Given the description of an element on the screen output the (x, y) to click on. 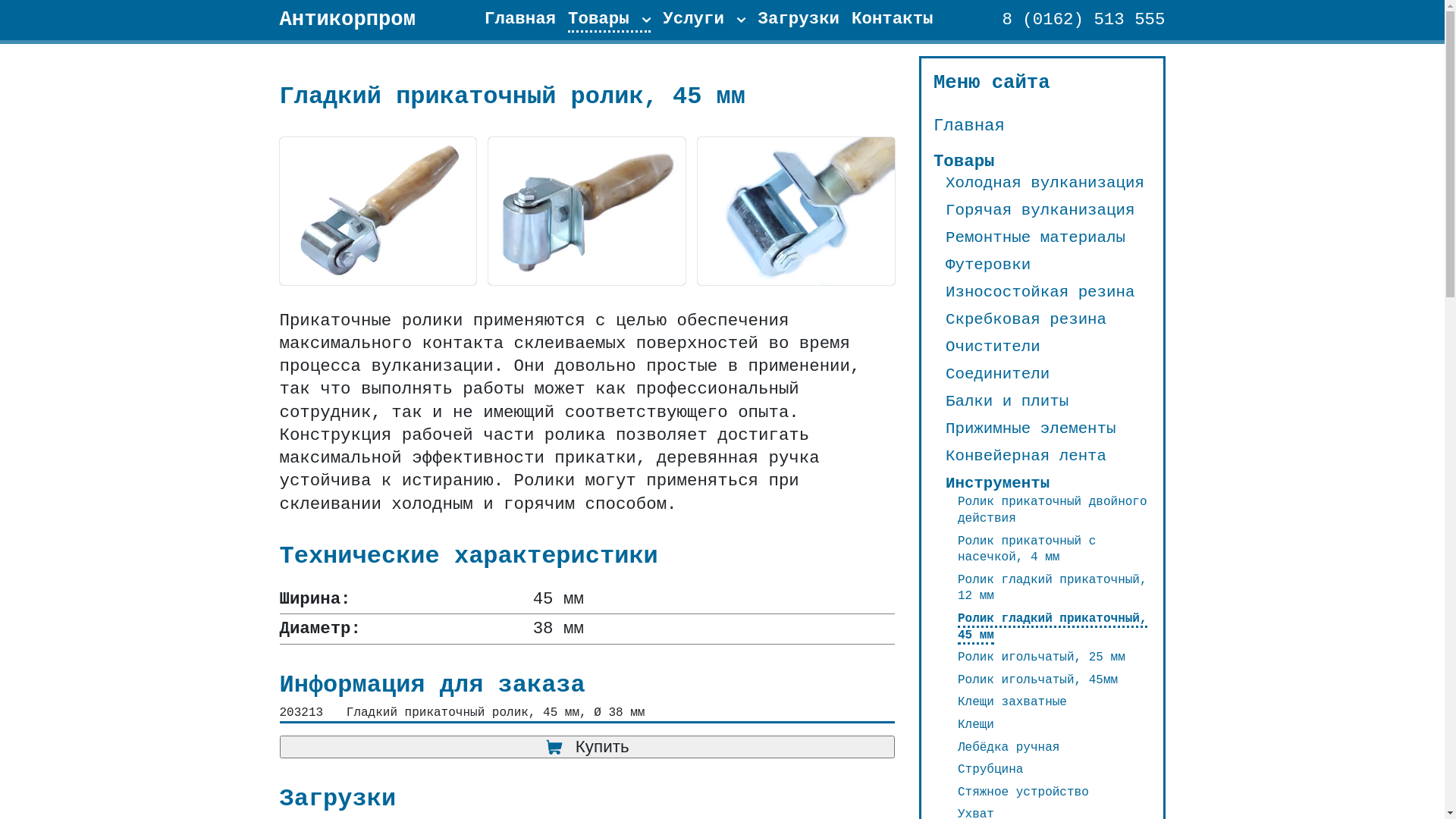
8 (0162) 513 555 Element type: text (1083, 19)
